Given the description of an element on the screen output the (x, y) to click on. 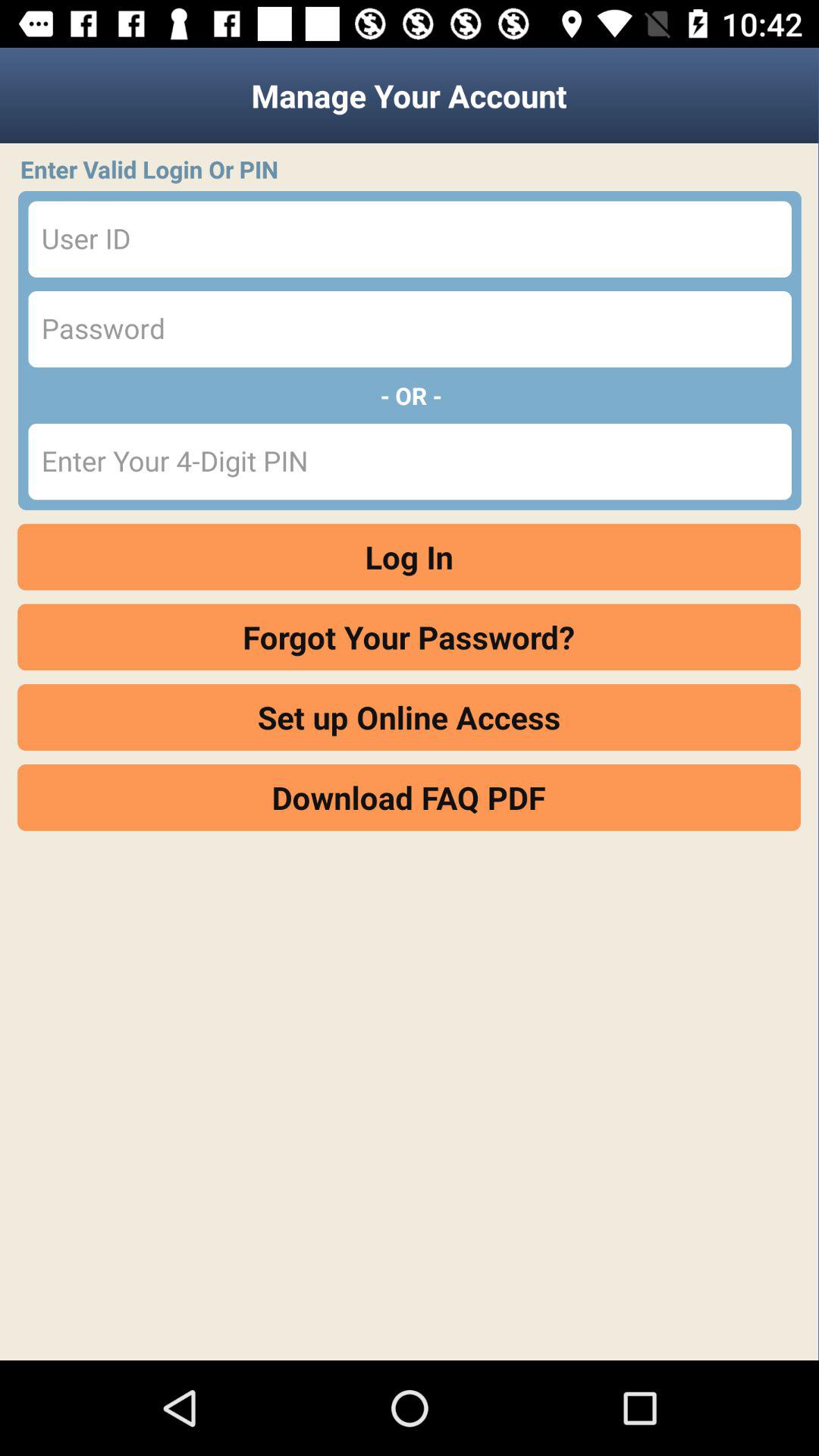
enter info (409, 461)
